Given the description of an element on the screen output the (x, y) to click on. 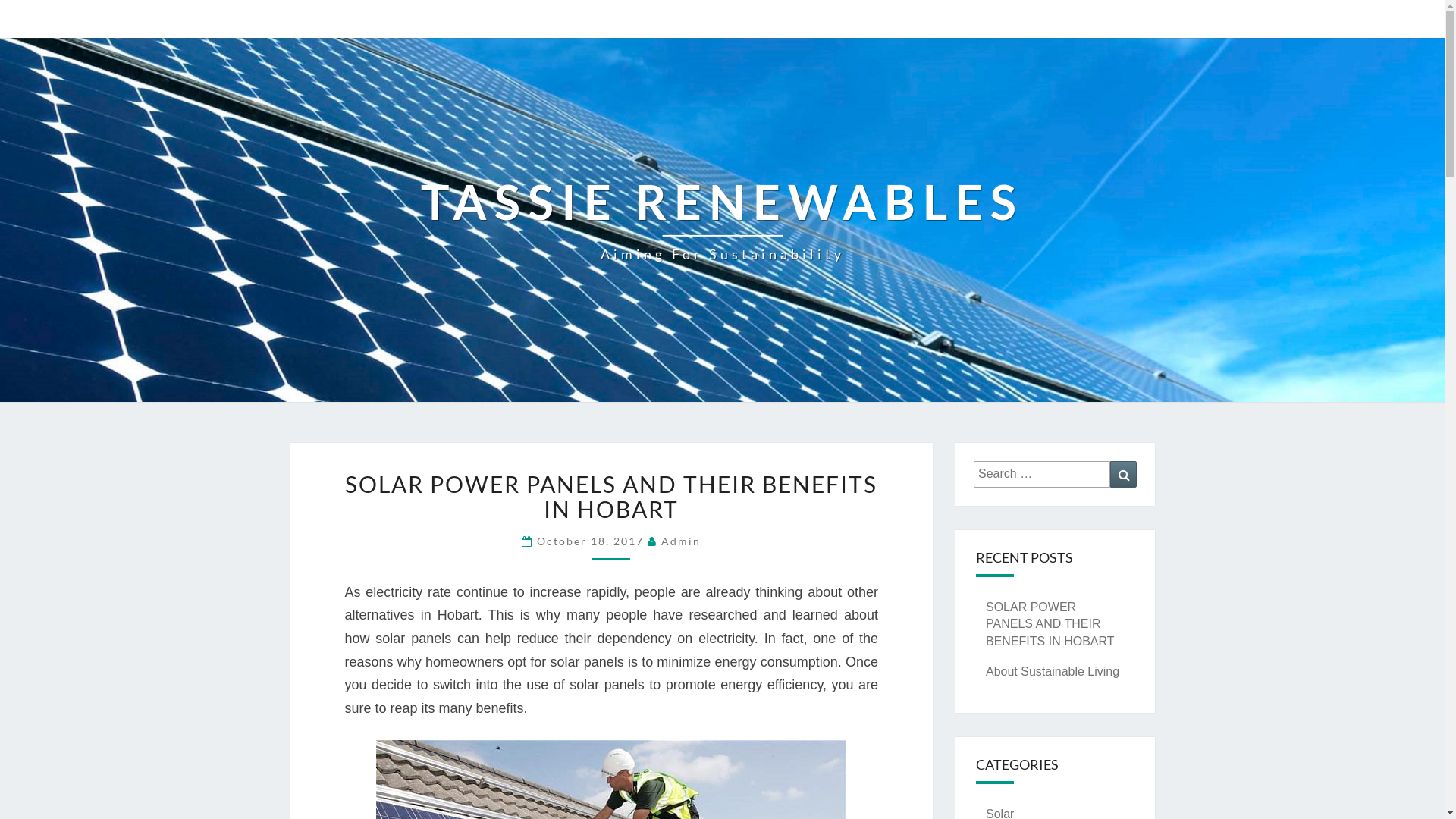
TASSIE RENEWABLES
Aiming For Sustainability Element type: text (721, 219)
October 18, 2017 Element type: text (591, 540)
SOLAR POWER PANELS AND THEIR BENEFITS IN HOBART Element type: text (611, 496)
Admin Element type: text (680, 540)
Search for: Element type: hover (1041, 474)
SOLAR POWER PANELS AND THEIR BENEFITS IN HOBART Element type: text (1049, 624)
About Sustainable Living Element type: text (1052, 671)
Search Element type: text (1123, 474)
